Given the description of an element on the screen output the (x, y) to click on. 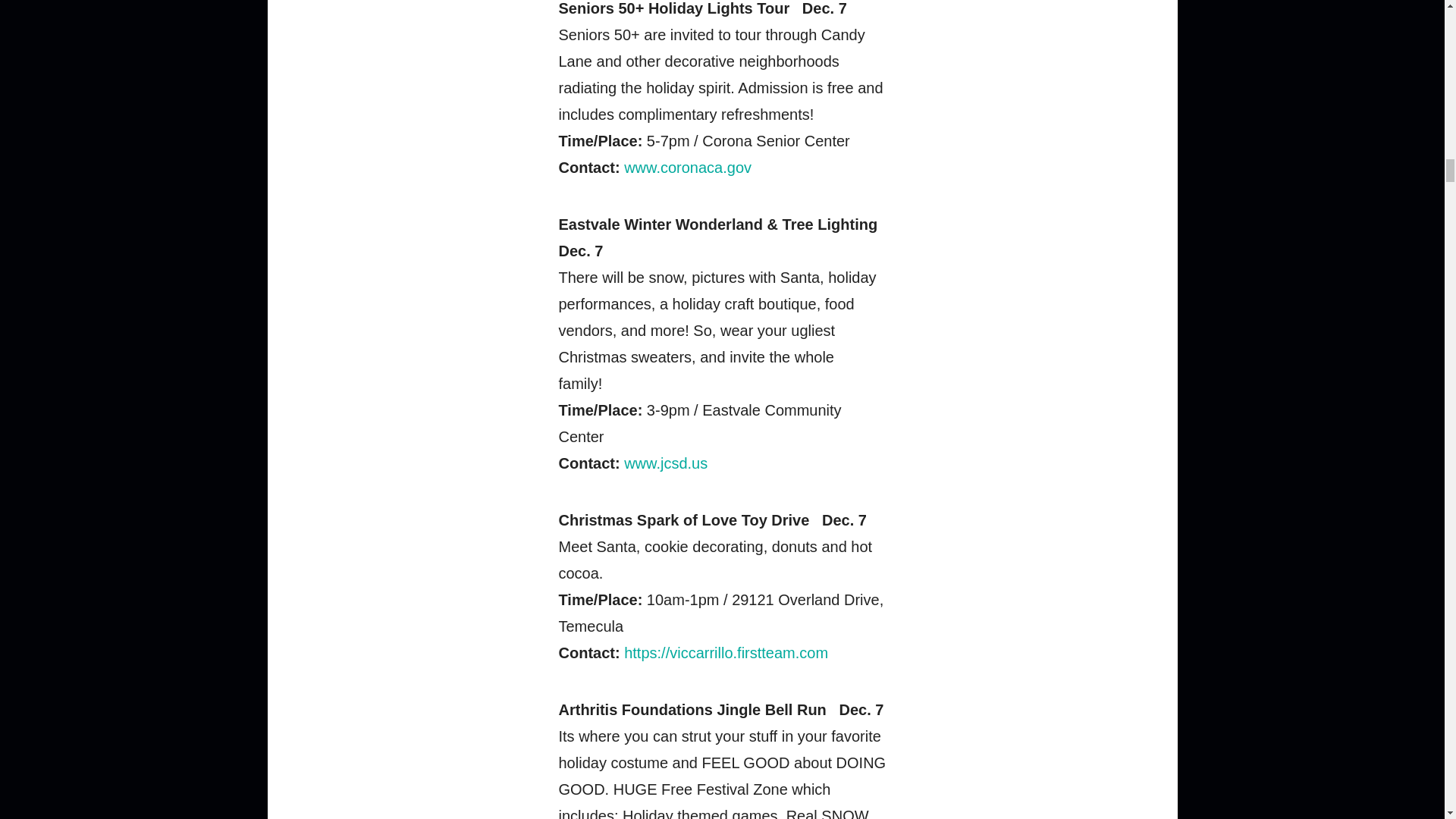
www.coronaca.gov (687, 167)
